Given the description of an element on the screen output the (x, y) to click on. 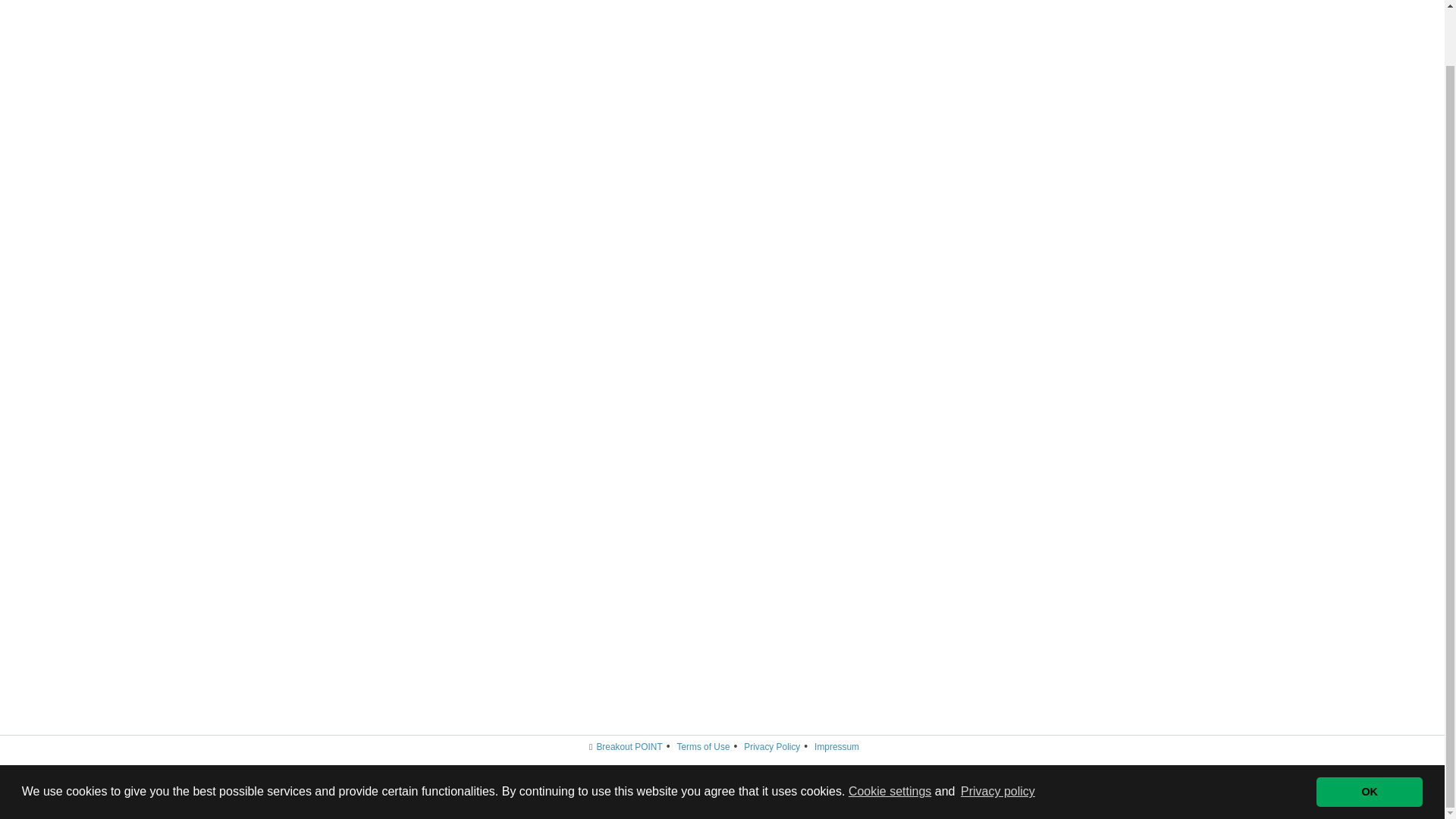
Breakout POINT (628, 747)
Impressum (836, 747)
Privacy policy (997, 730)
Privacy Policy (771, 747)
Terms of Use (703, 747)
OK (1369, 730)
Cookie settings (889, 730)
